Given the description of an element on the screen output the (x, y) to click on. 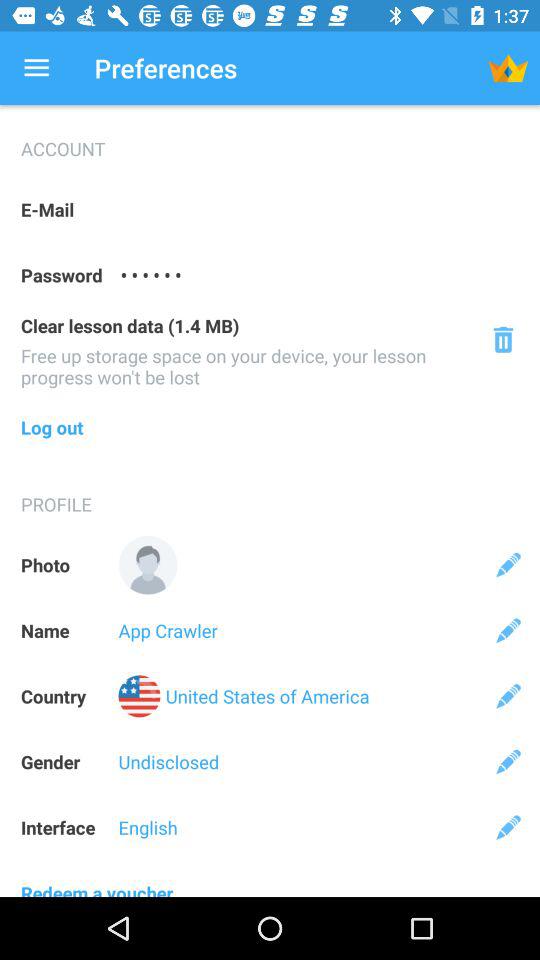
tap the redeem a voucher icon (270, 878)
